Given the description of an element on the screen output the (x, y) to click on. 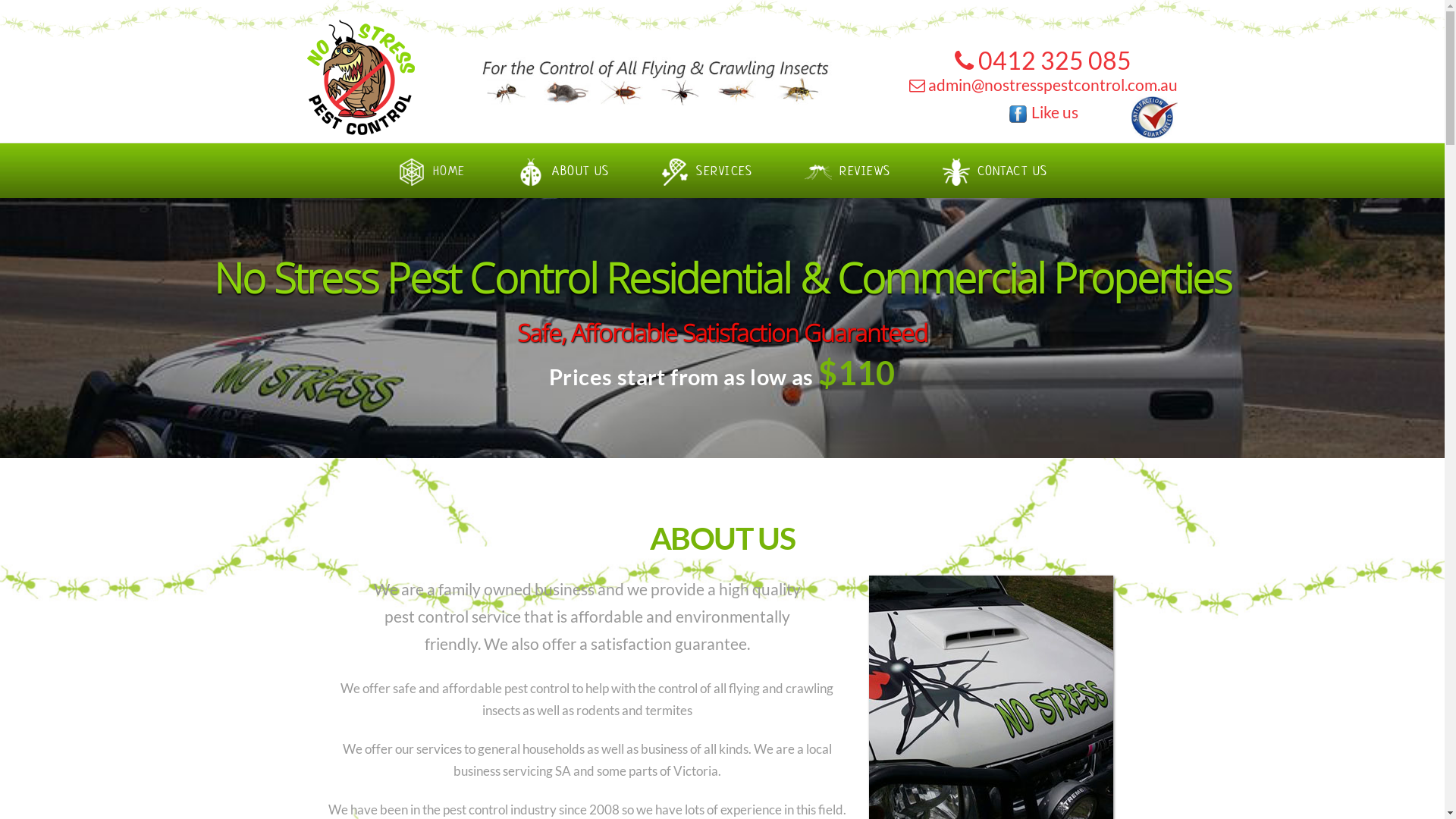
ABOUT US Element type: text (562, 162)
REVIEWS Element type: text (847, 162)
SERVICES Element type: text (706, 162)
HOME Element type: text (430, 162)
Like us Element type: text (1043, 111)
CONTACT US Element type: text (994, 162)
